Given the description of an element on the screen output the (x, y) to click on. 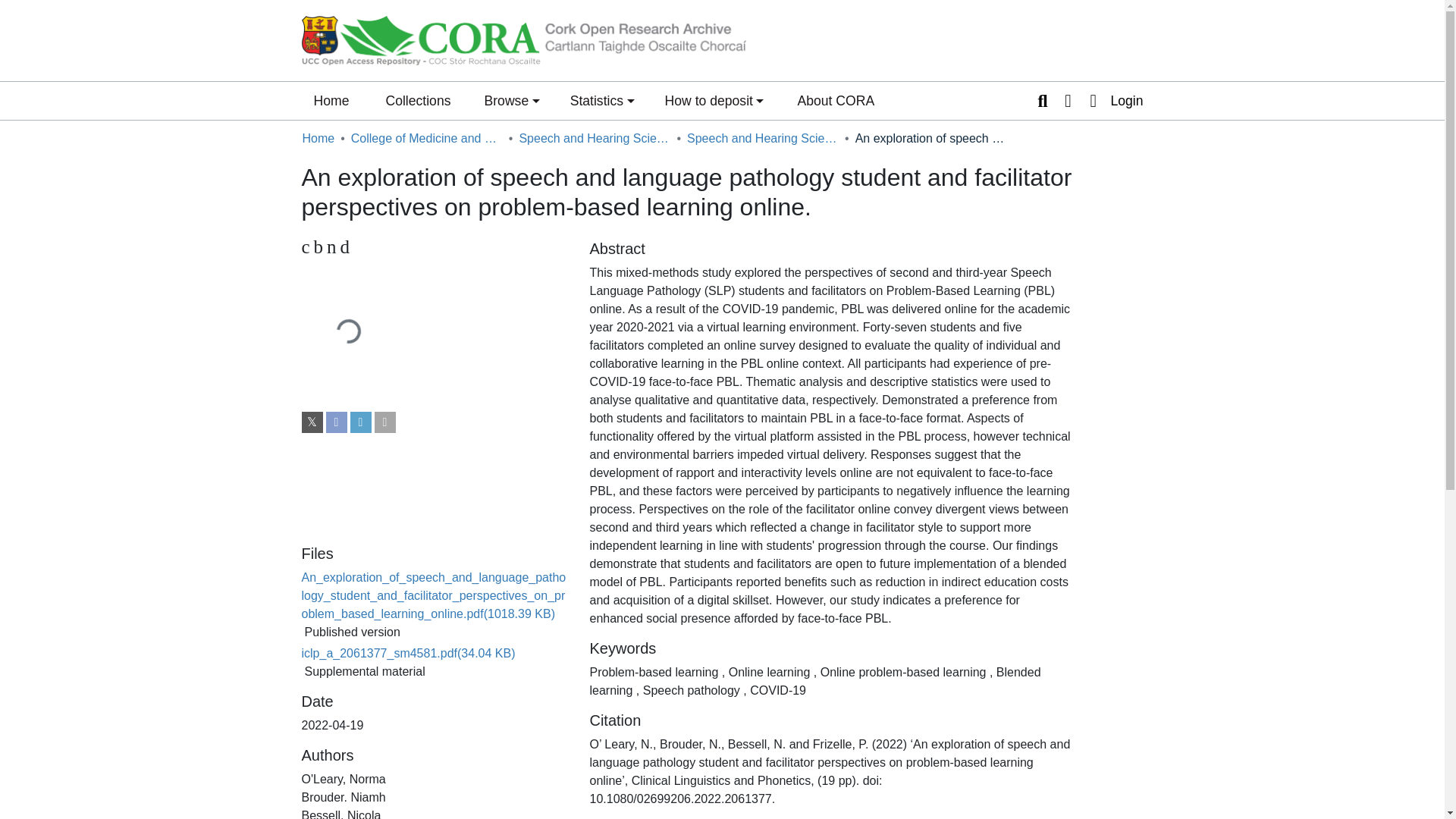
Collections (417, 100)
Home (317, 138)
Home (331, 100)
Speech and Hearing Sciences - Journal Articles (762, 138)
Search (1041, 100)
Home (331, 100)
How to deposit (714, 100)
Login (1111, 100)
College of Medicine and Health (426, 138)
Browse (510, 100)
Statistics (434, 246)
Language switch (602, 100)
About CORA (1067, 100)
Collections (835, 100)
